Given the description of an element on the screen output the (x, y) to click on. 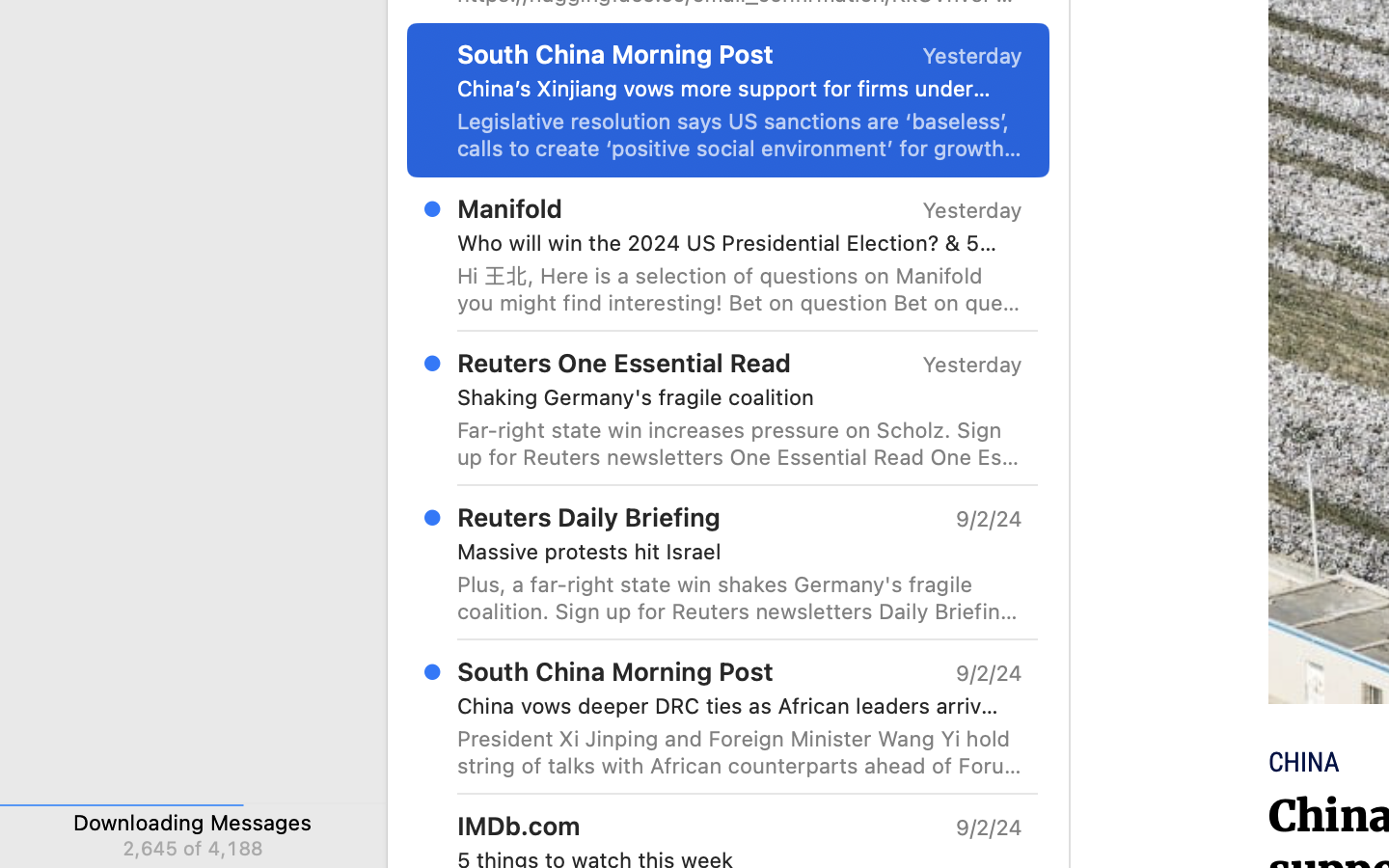
Plus, a far-right state win shakes Germany's fragile coalition. Sign up for Reuters newsletters Daily Briefing Daily Briefing By Edson Caldas Frustration is mounting over Israel's failure to secure a ceasefire deal that would free hostages. Today, we cover massive protests across the country and a general strike. Elsewhere, a far-right state win shakes Germany's fragile coalition, and a Russian missile attack rocks Kyiv and other parts of Ukraine. Plus, the latest from the Paris Paralympics. Today's Top News Hundreds of thousands protested across Israel on Sunday. REUTERS/Florion Goga War in Gaza Municipal services in several Israeli districts were disrupted today after the country's biggest labor union launched a general strike to pressure Prime Minister Benjamin Netanyahu into agreeing to a deal to bring Israeli hostages in Gaza home. Over the weekend, massive protests swept the country following the death of six hostages in Gaza. Crowds estimated by Israeli media to number up to 500 Element type: AXStaticText (739, 597)
